Given the description of an element on the screen output the (x, y) to click on. 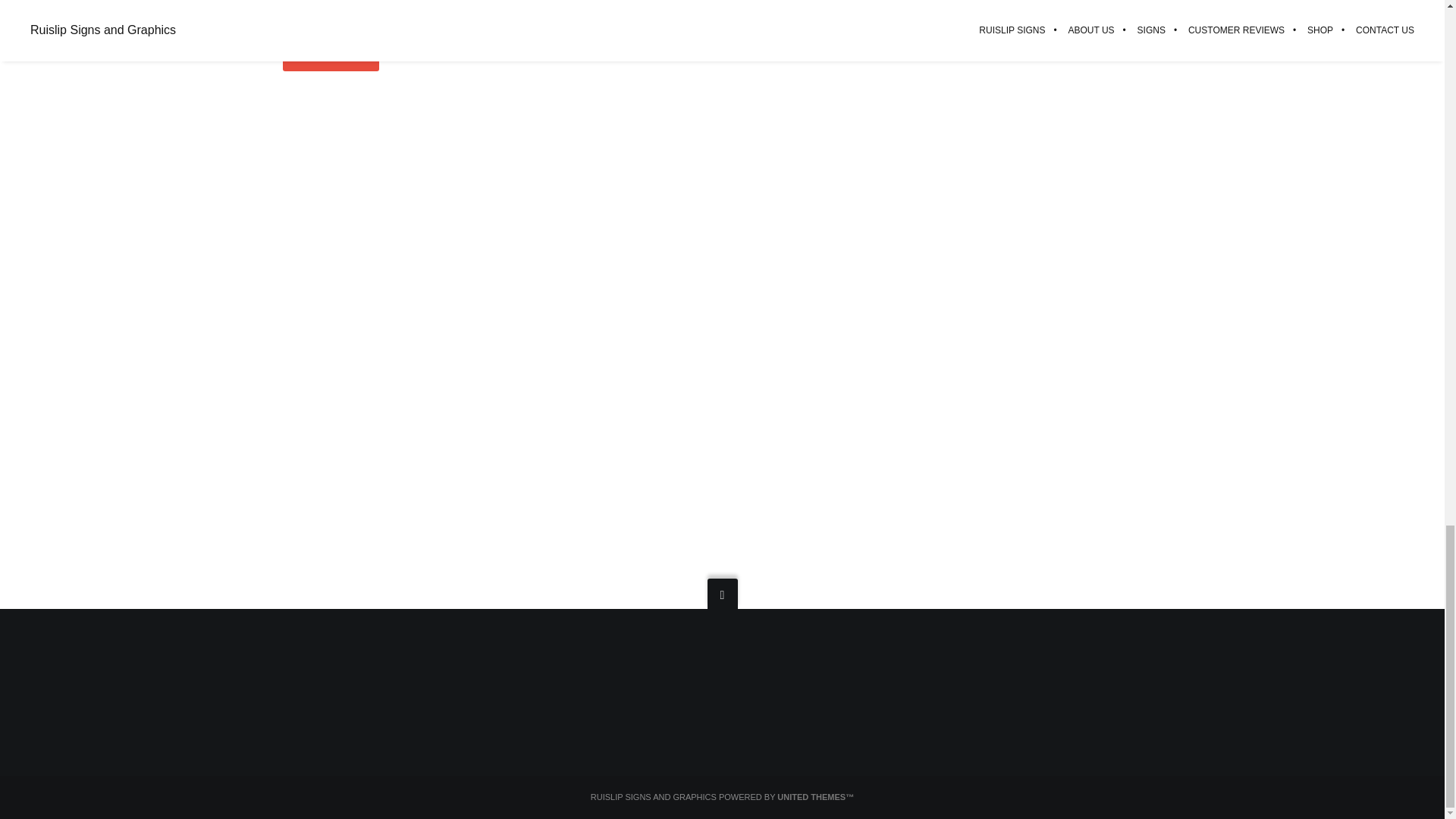
Get a Quote (330, 54)
GET A QUOTE (330, 54)
